Given the description of an element on the screen output the (x, y) to click on. 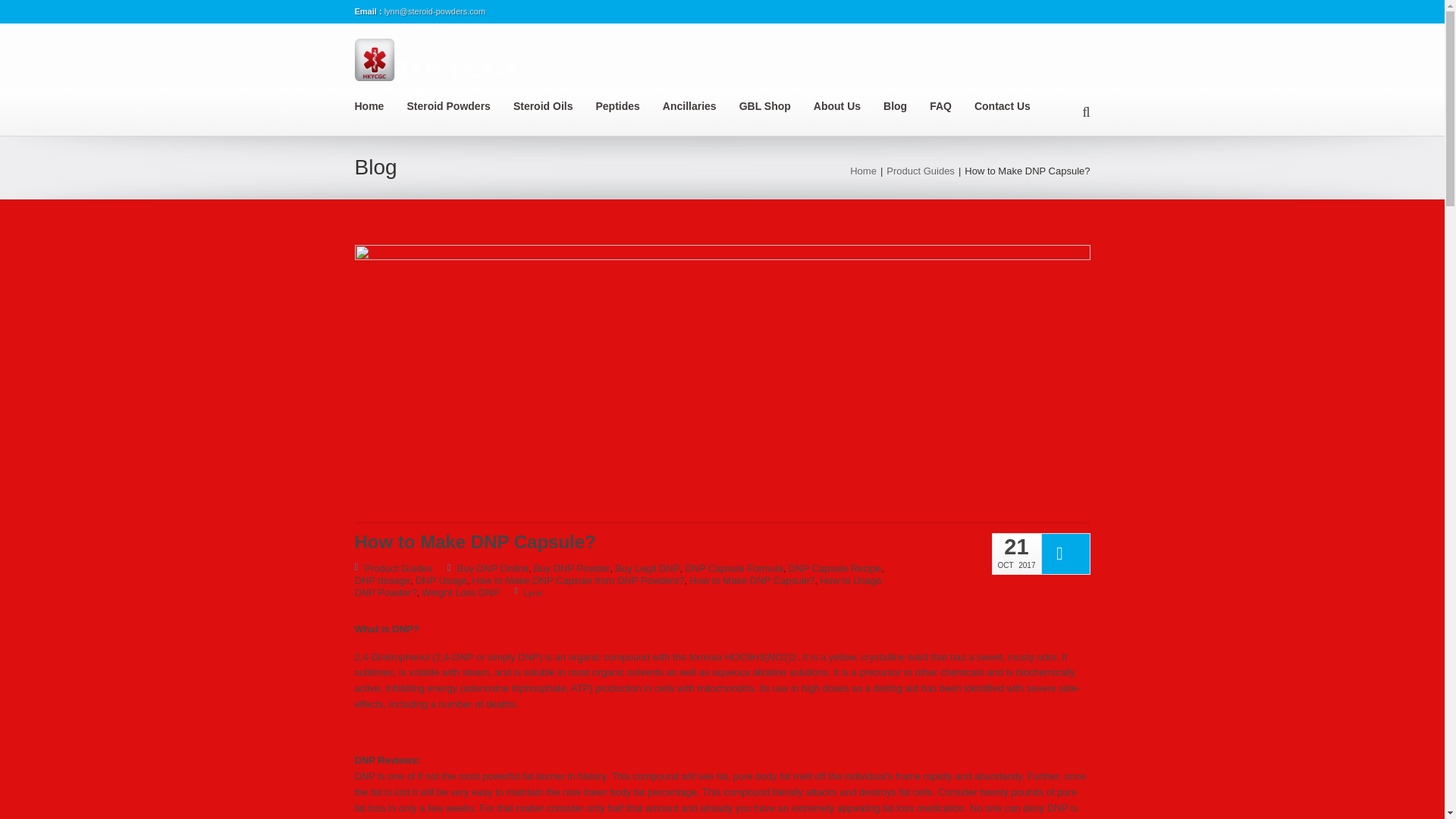
View all posts by Lynn (528, 592)
Home (381, 106)
Peptides (628, 106)
Steroid Powders (459, 106)
Ancillaries (700, 106)
Steroid Oils (554, 106)
